Given the description of an element on the screen output the (x, y) to click on. 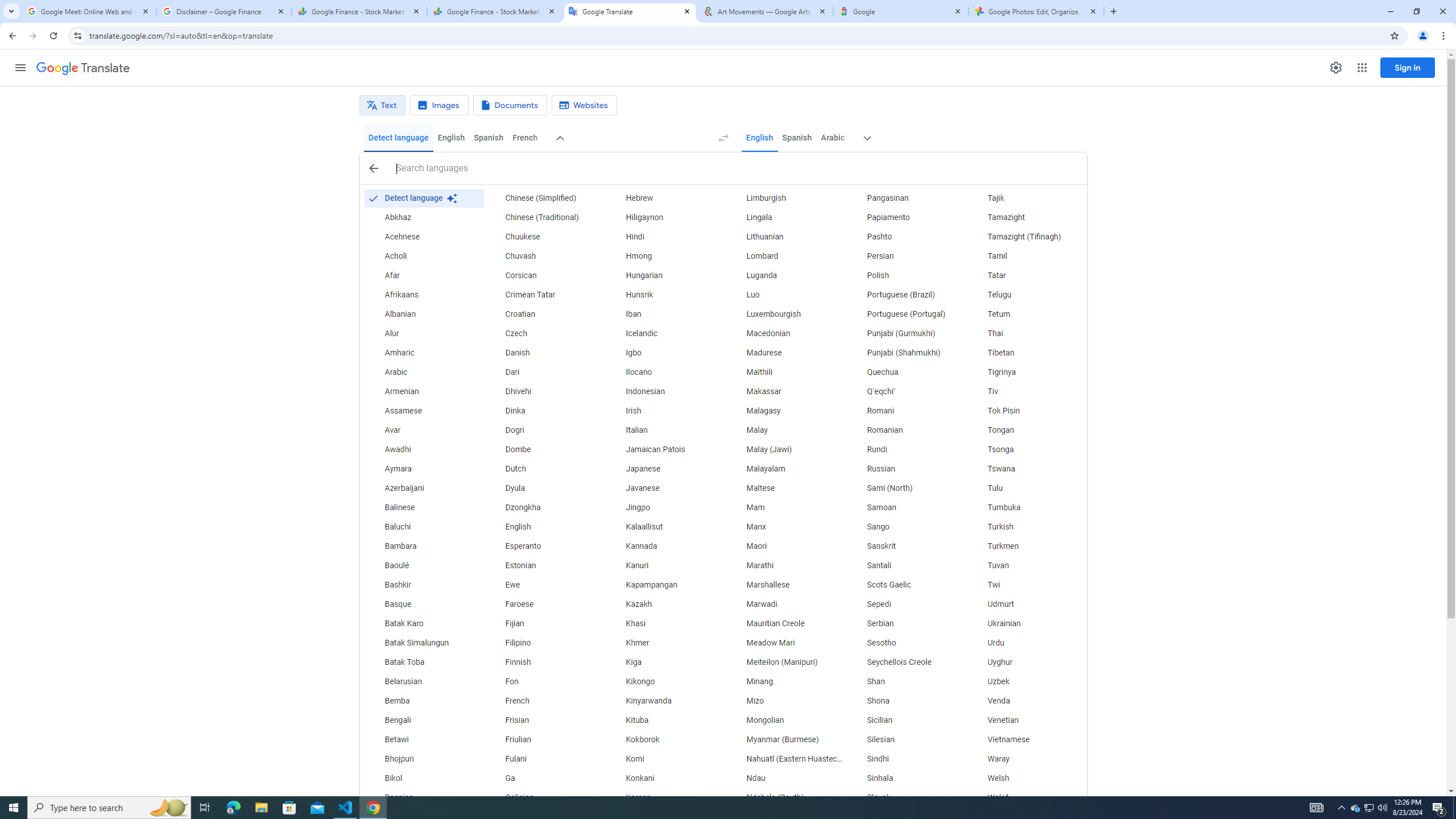
Turkish (1026, 527)
Malay (785, 430)
Malayalam (785, 469)
Text translation (382, 105)
Kalaallisut (665, 527)
Tibetan (1026, 352)
Batak Karo (423, 624)
Estonian (544, 565)
Scots Gaelic (905, 584)
Kazakh (665, 604)
Jingpo (665, 507)
Bambara (423, 546)
